Given the description of an element on the screen output the (x, y) to click on. 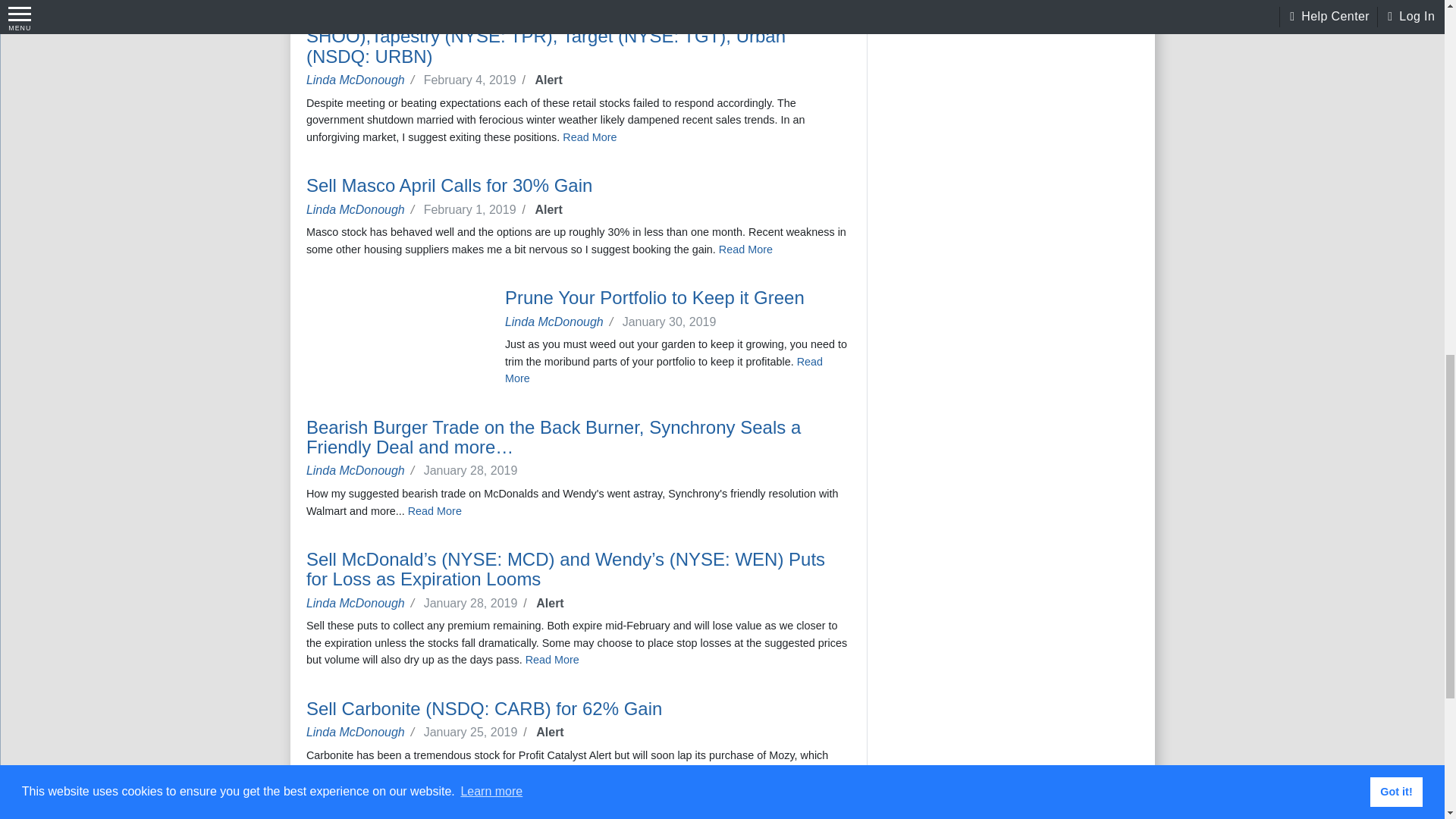
2019-01-30 (672, 321)
2019-02-01 (477, 209)
2019-01-28 (473, 470)
2019-01-25 (477, 731)
2019-02-04 (477, 79)
2019-01-28 (477, 603)
